Given the description of an element on the screen output the (x, y) to click on. 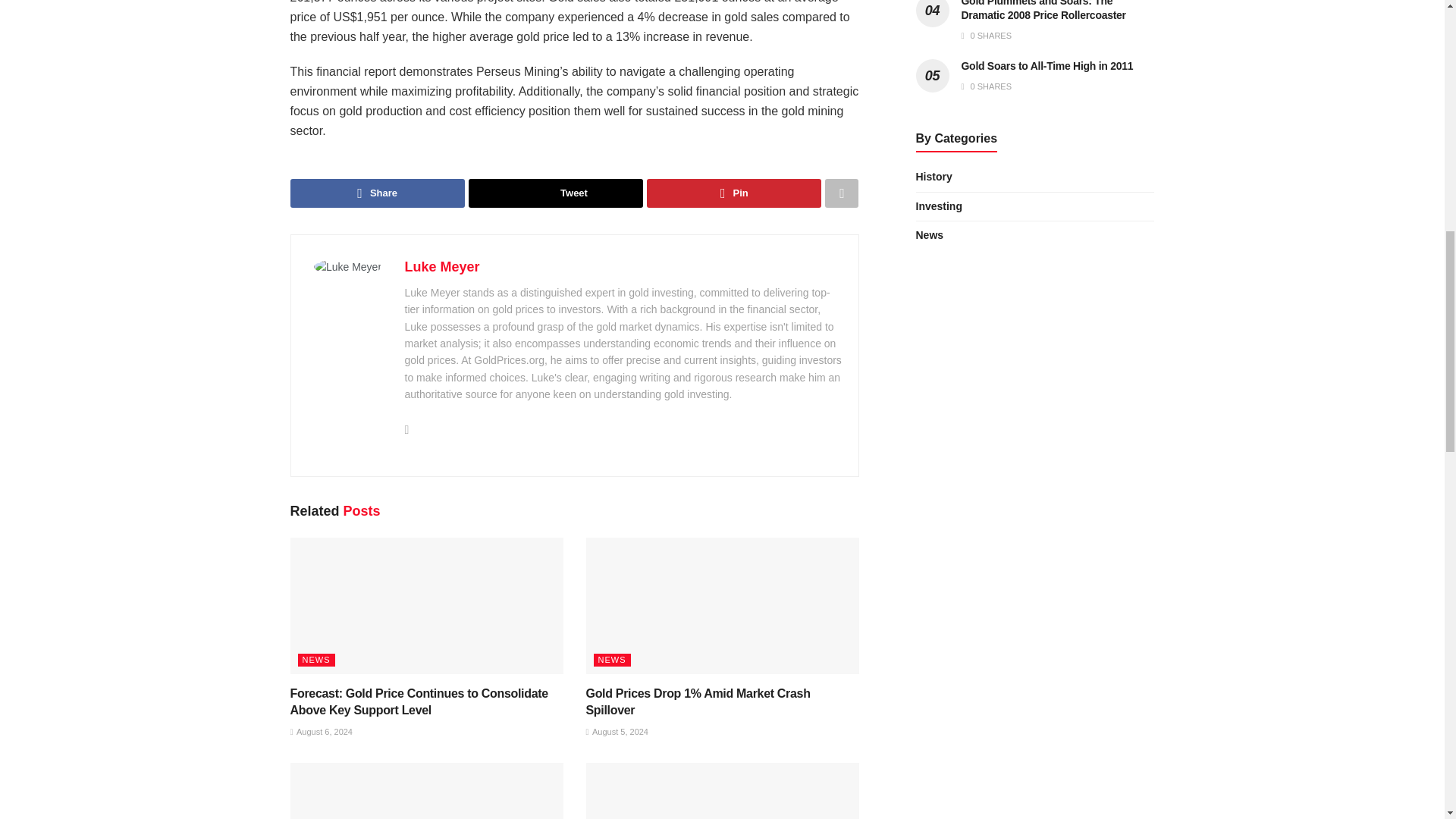
Tweet (555, 193)
Luke Meyer (442, 266)
Share (376, 193)
August 6, 2024 (320, 731)
NEWS (315, 659)
Pin (733, 193)
NEWS (611, 659)
